Given the description of an element on the screen output the (x, y) to click on. 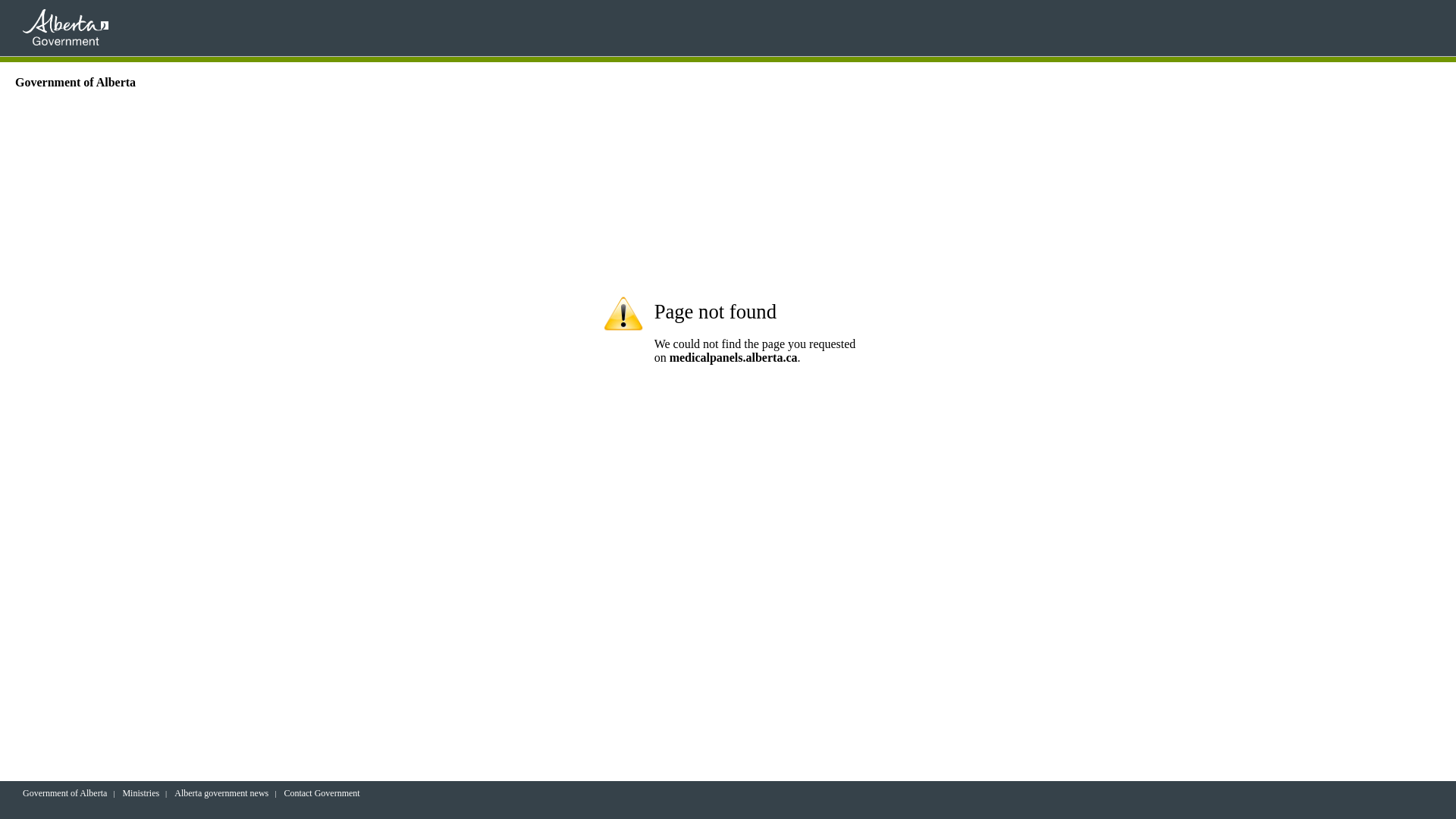
Government of Alberta Element type: text (64, 792)
Contact Government Element type: text (321, 792)
Ministries Element type: text (140, 792)
Alberta government news Element type: text (221, 792)
